Given the description of an element on the screen output the (x, y) to click on. 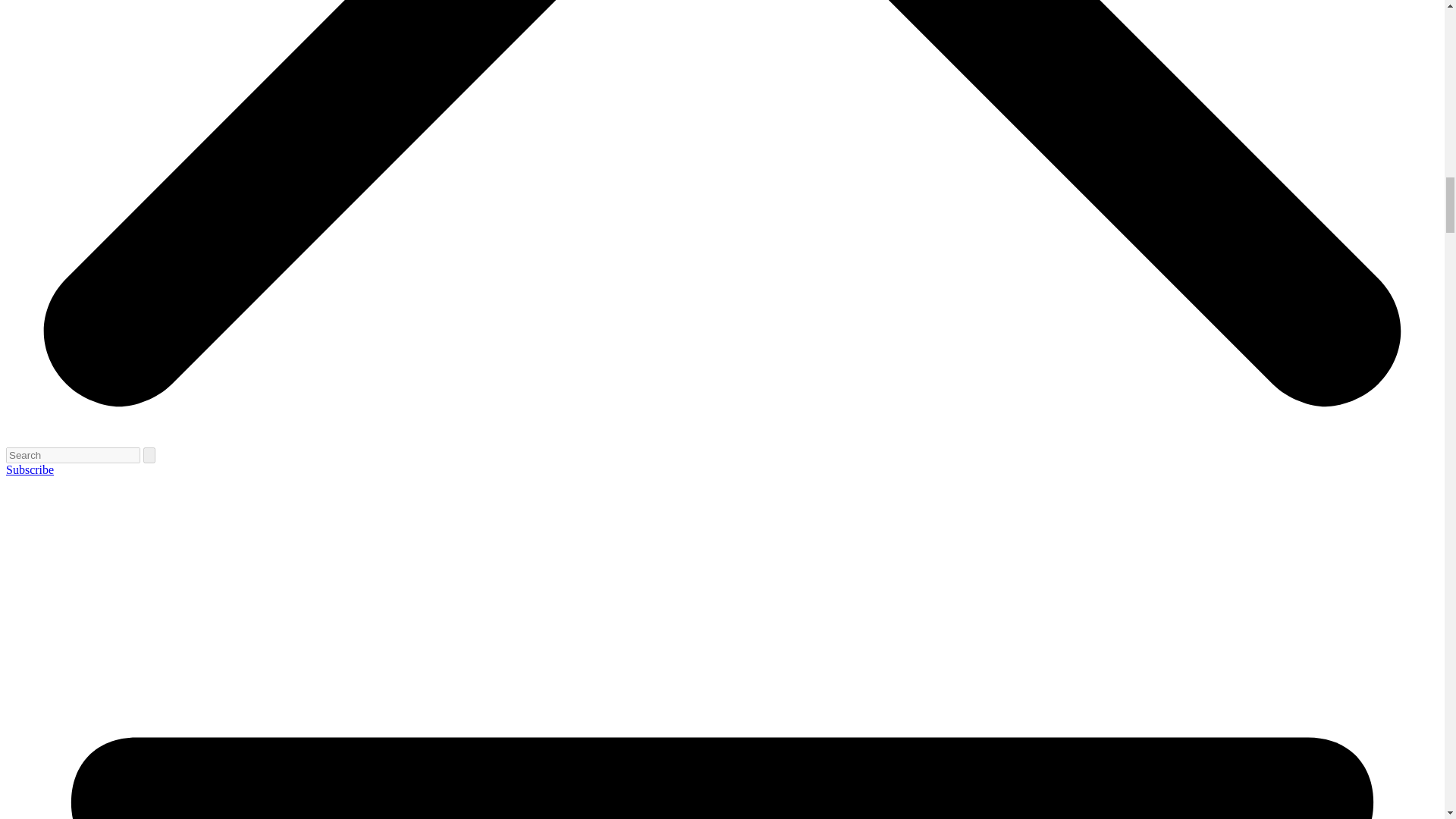
Subscribe (29, 469)
